Given the description of an element on the screen output the (x, y) to click on. 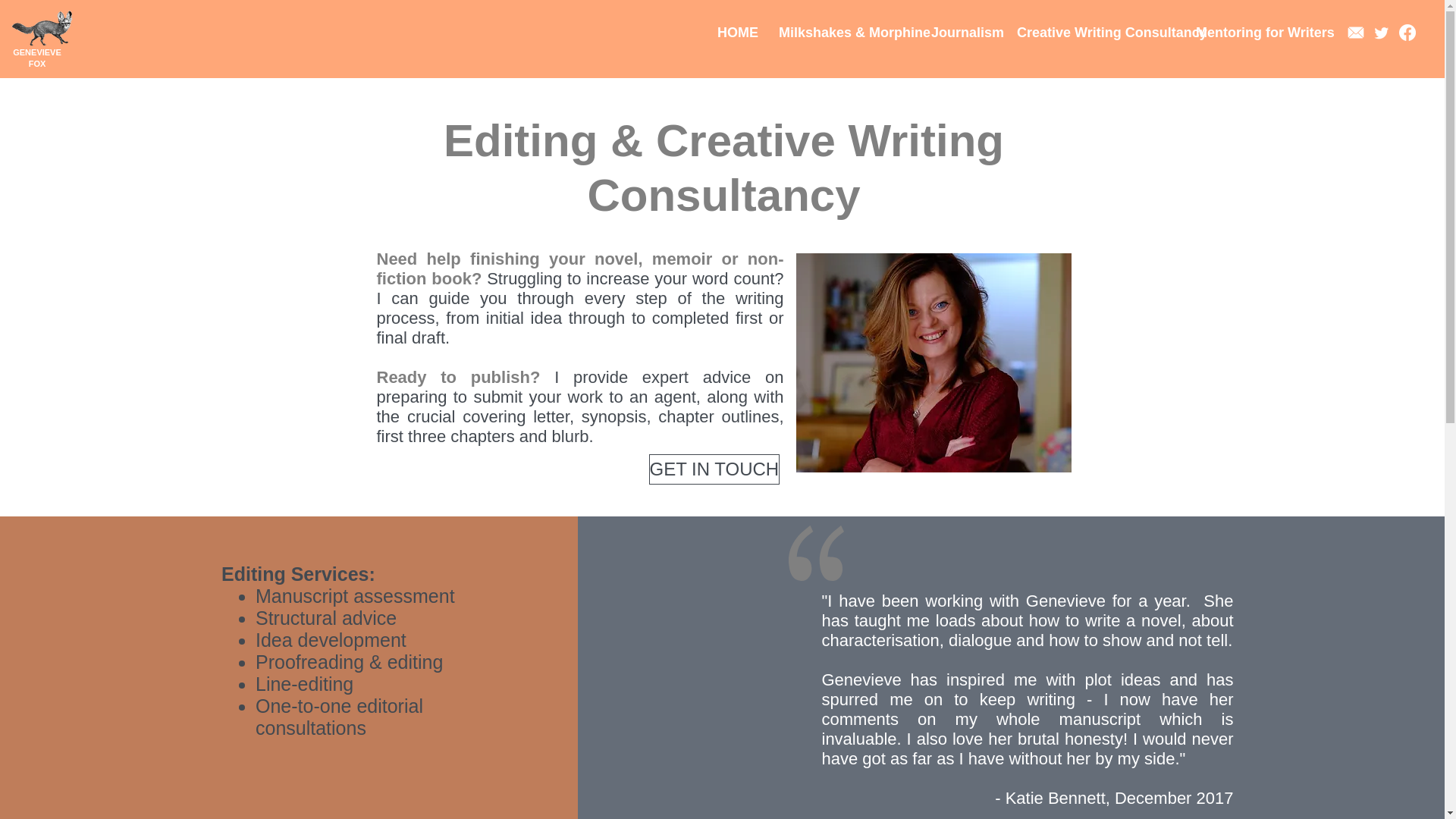
Mentoring for Writers (1256, 32)
Journalism (963, 32)
GET IN TOUCH (714, 469)
HOME (736, 32)
